Given the description of an element on the screen output the (x, y) to click on. 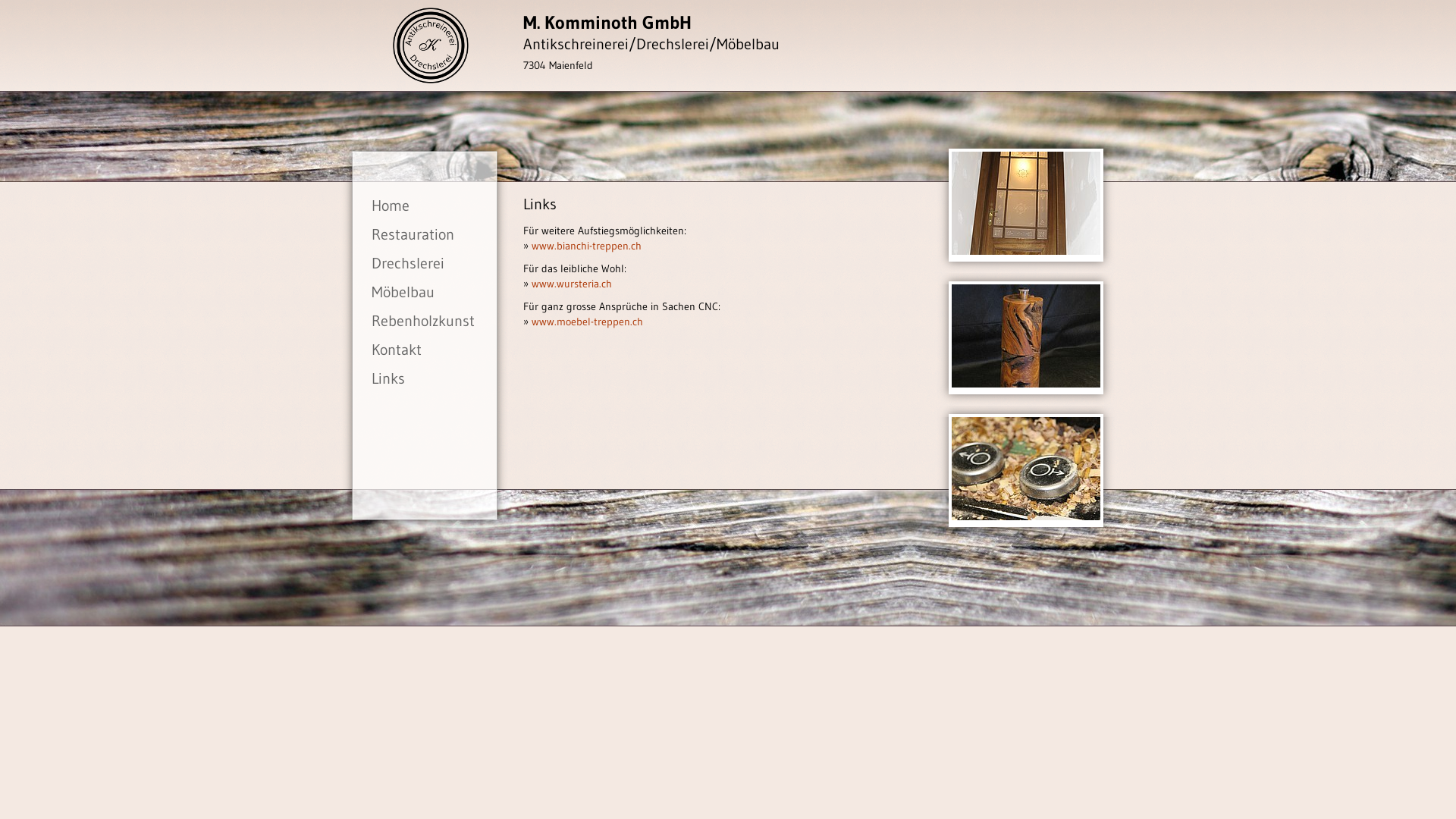
Restauration Element type: text (424, 233)
Links Element type: text (424, 378)
www.bianchi-treppen.ch Element type: text (586, 245)
Home Element type: text (424, 205)
Antikschreinerei Komminoth Element type: hover (430, 45)
www.wursteria.ch Element type: text (571, 283)
Kontakt Element type: text (424, 349)
www.moebel-treppen.ch Element type: text (587, 321)
Rebenholzkunst Element type: text (424, 320)
Drechslerei Element type: text (424, 262)
